Given the description of an element on the screen output the (x, y) to click on. 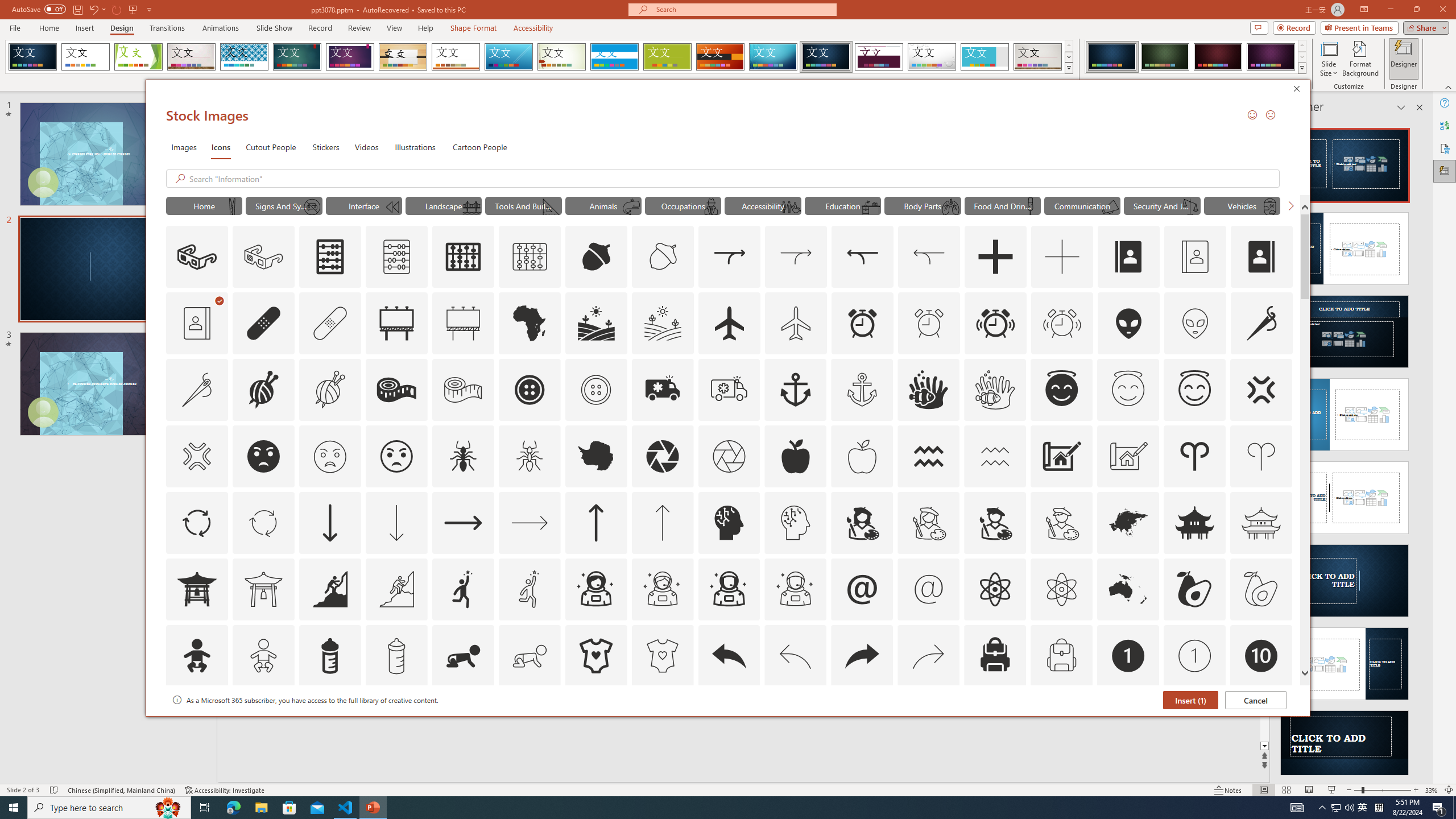
AutomationID: Icons_Advertising (397, 323)
AutomationID: Icons_Acquisition_LTR_M (796, 256)
AutomationID: Icons_Abacus (330, 256)
AutomationID: Icons_UniversalAccess_M (790, 206)
AutomationID: Icons_AnemoneAndClownfish_M (995, 389)
